Given the description of an element on the screen output the (x, y) to click on. 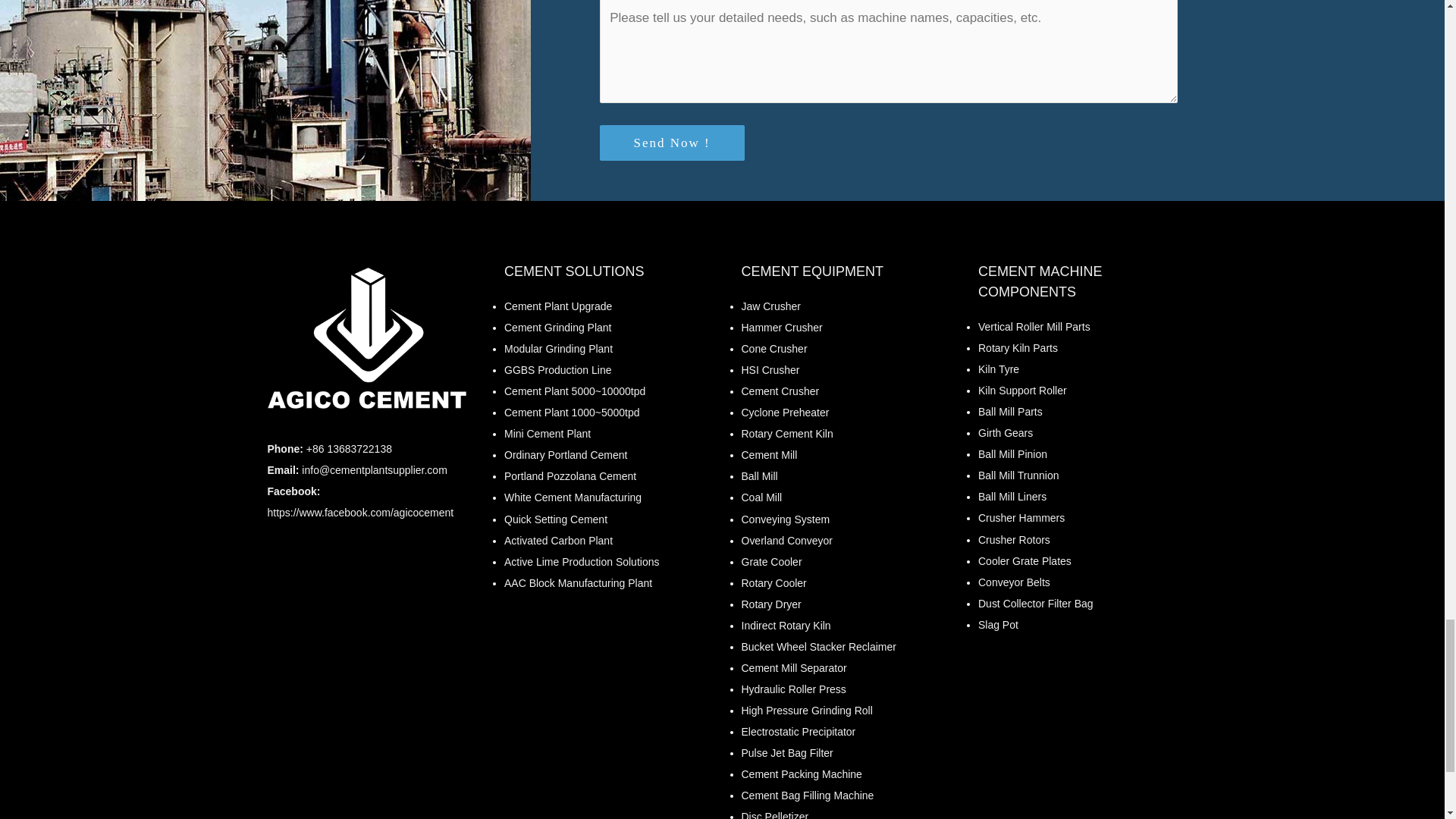
Send Now ! (671, 142)
